Given the description of an element on the screen output the (x, y) to click on. 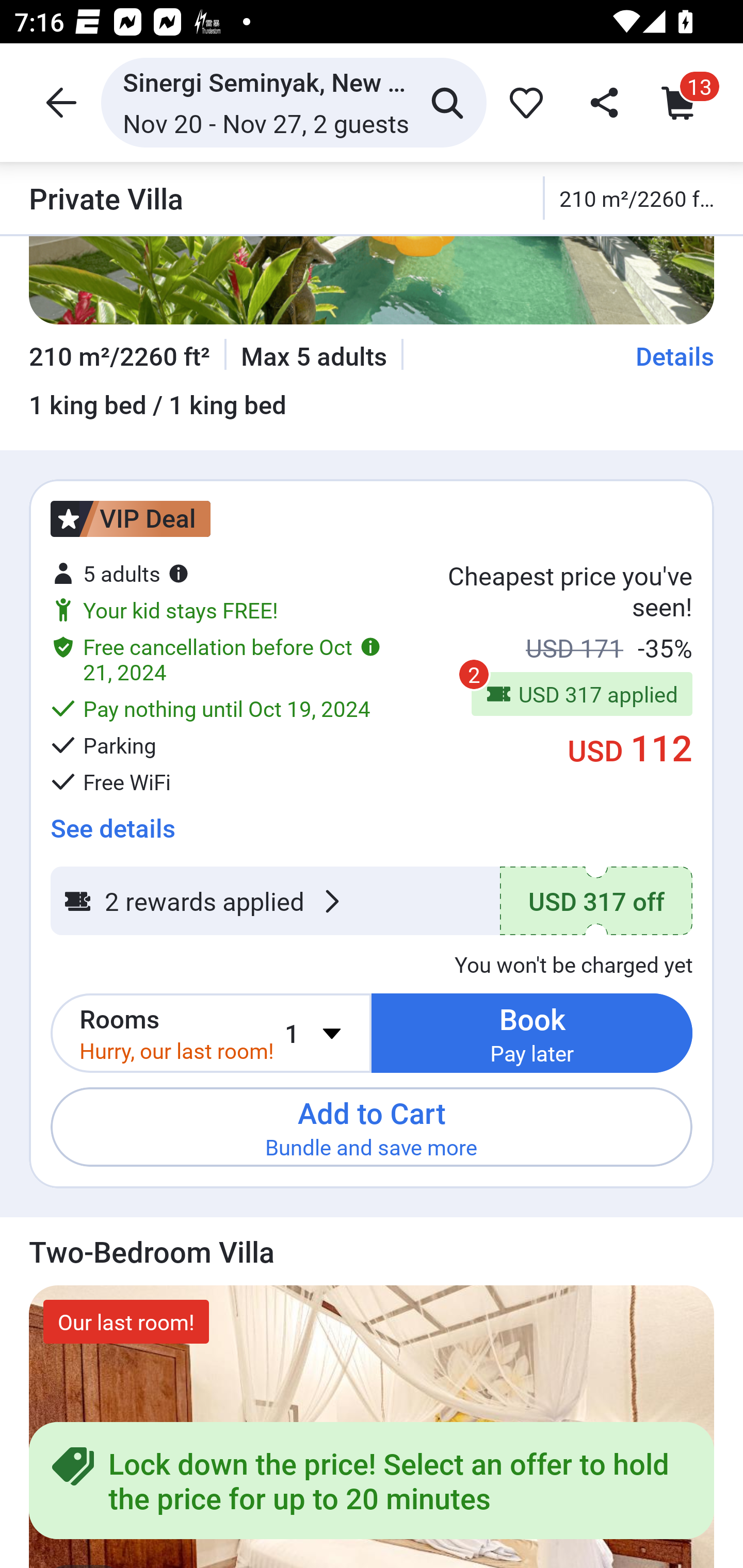
header icon (59, 102)
favorite_icon 0dbe6efb (522, 102)
share_header_icon (601, 102)
Cart icon cart_item_count 13 (683, 102)
Details (674, 355)
Free cancellation before Oct 21, 2024 (215, 659)
See details (112, 820)
2 rewards applied USD 317 off (371, 900)
Rooms Hurry, our last room! 1 (210, 1033)
Book Pay later (531, 1033)
Add to Cart Bundle and save more (371, 1126)
